Given the description of an element on the screen output the (x, y) to click on. 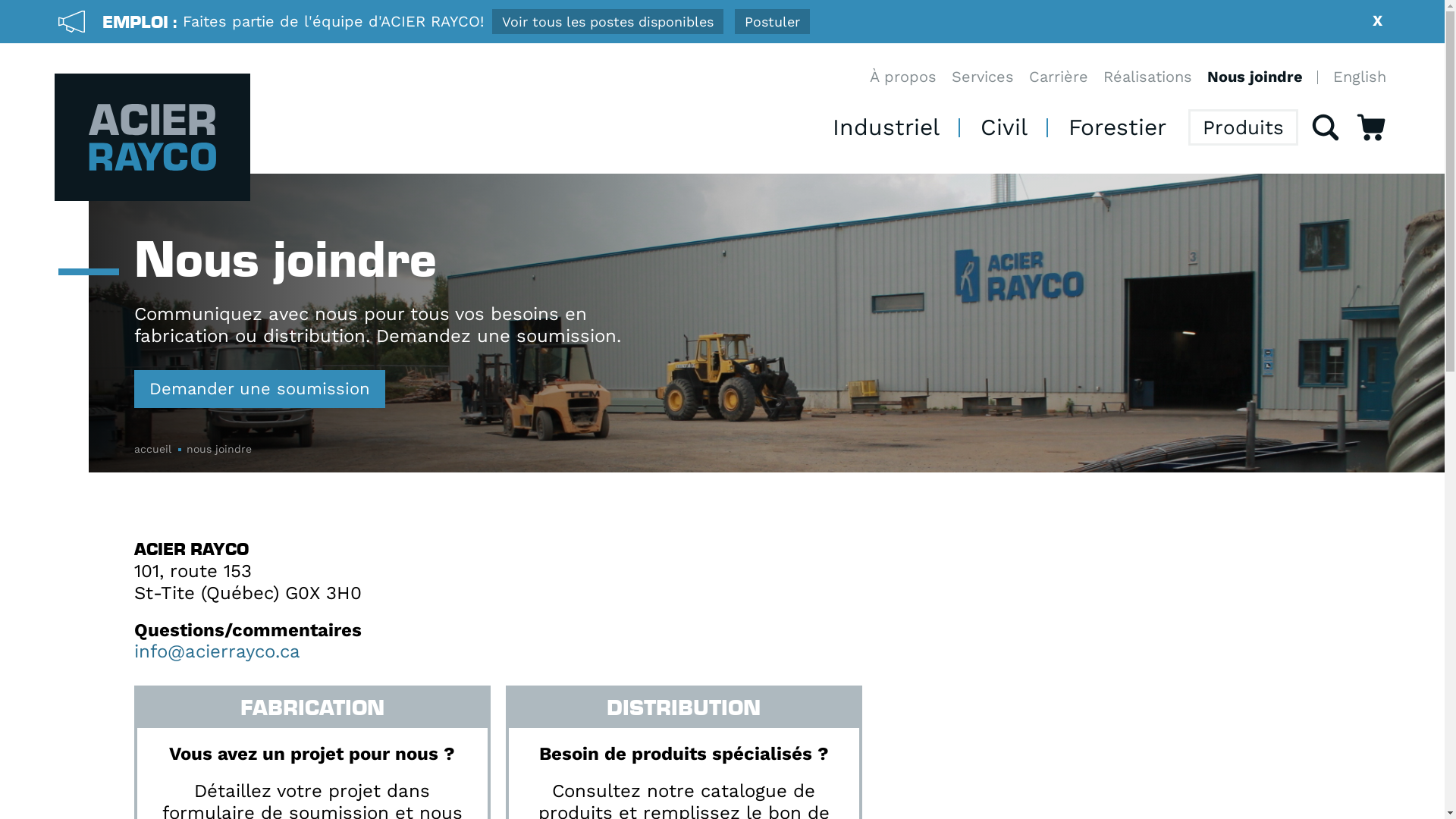
Nous joindre Element type: text (1254, 76)
accueil Element type: text (160, 448)
Forestier Element type: text (1117, 126)
Civil Element type: text (1003, 126)
Produits Element type: text (1243, 127)
English Element type: text (1359, 76)
Services Element type: text (982, 76)
Voir tous les postes disponibles Element type: text (607, 21)
Demander une soumission Element type: text (259, 388)
info@acierrayco.ca Element type: text (217, 651)
Industriel Element type: text (885, 126)
